Given the description of an element on the screen output the (x, y) to click on. 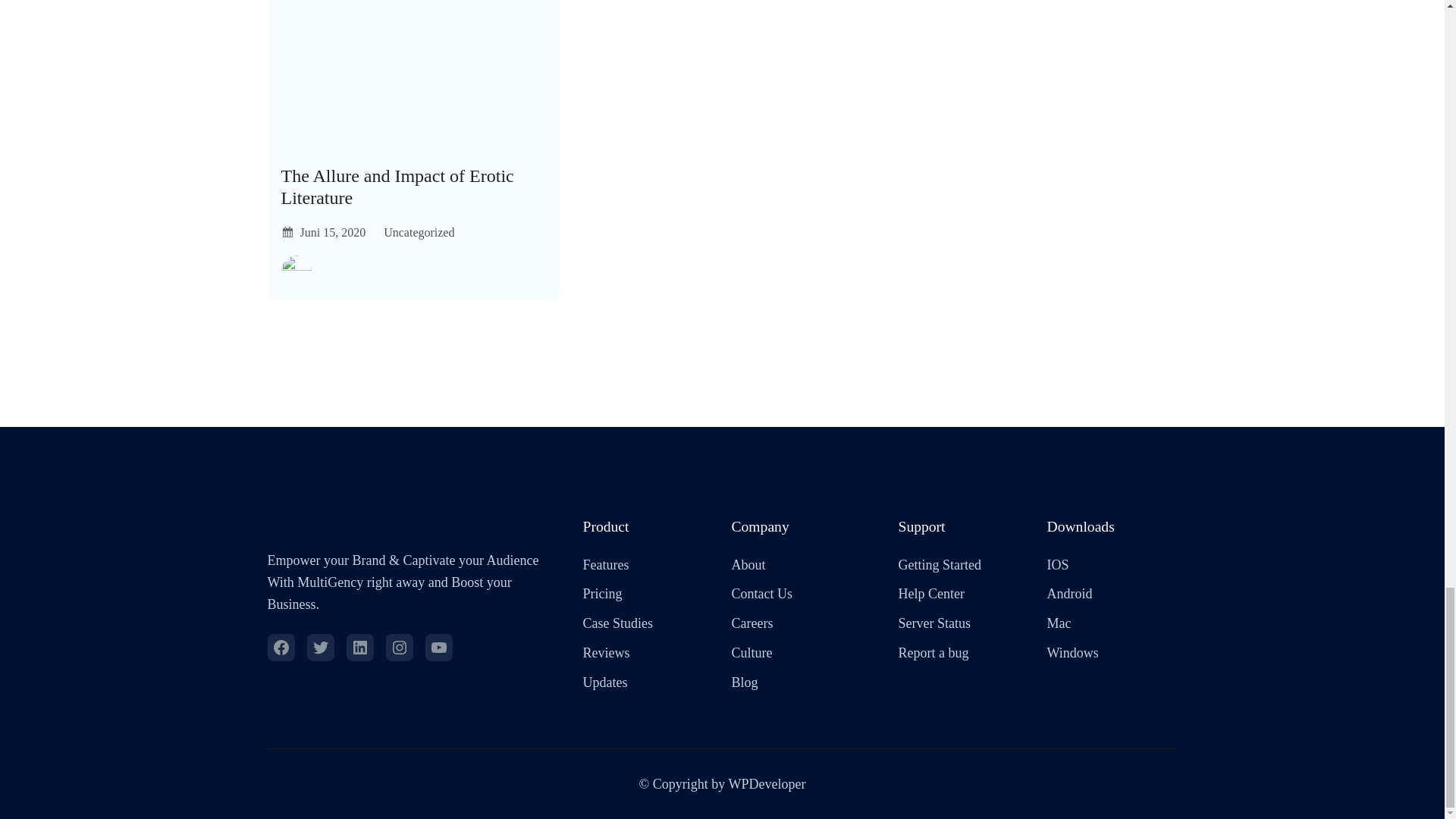
Contact Us (761, 594)
Case Studies (617, 623)
Blog (743, 682)
Uncategorized (419, 232)
The Allure and Impact of Erotic Literature (412, 187)
Careers (751, 623)
Getting Started (938, 565)
Culture (750, 653)
Reviews (605, 653)
Twitter (319, 646)
